Given the description of an element on the screen output the (x, y) to click on. 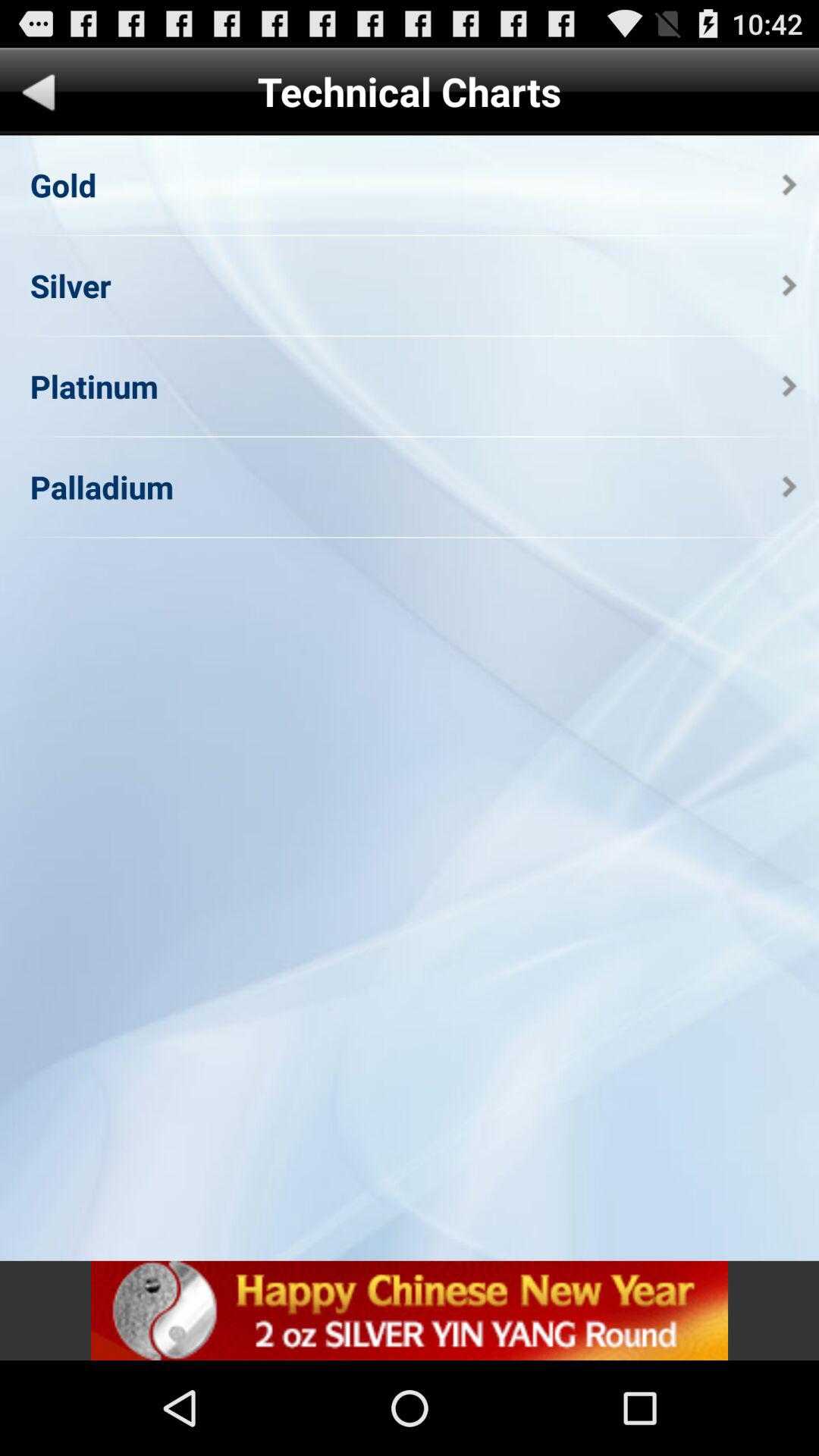
goes to previous page (39, 95)
